Given the description of an element on the screen output the (x, y) to click on. 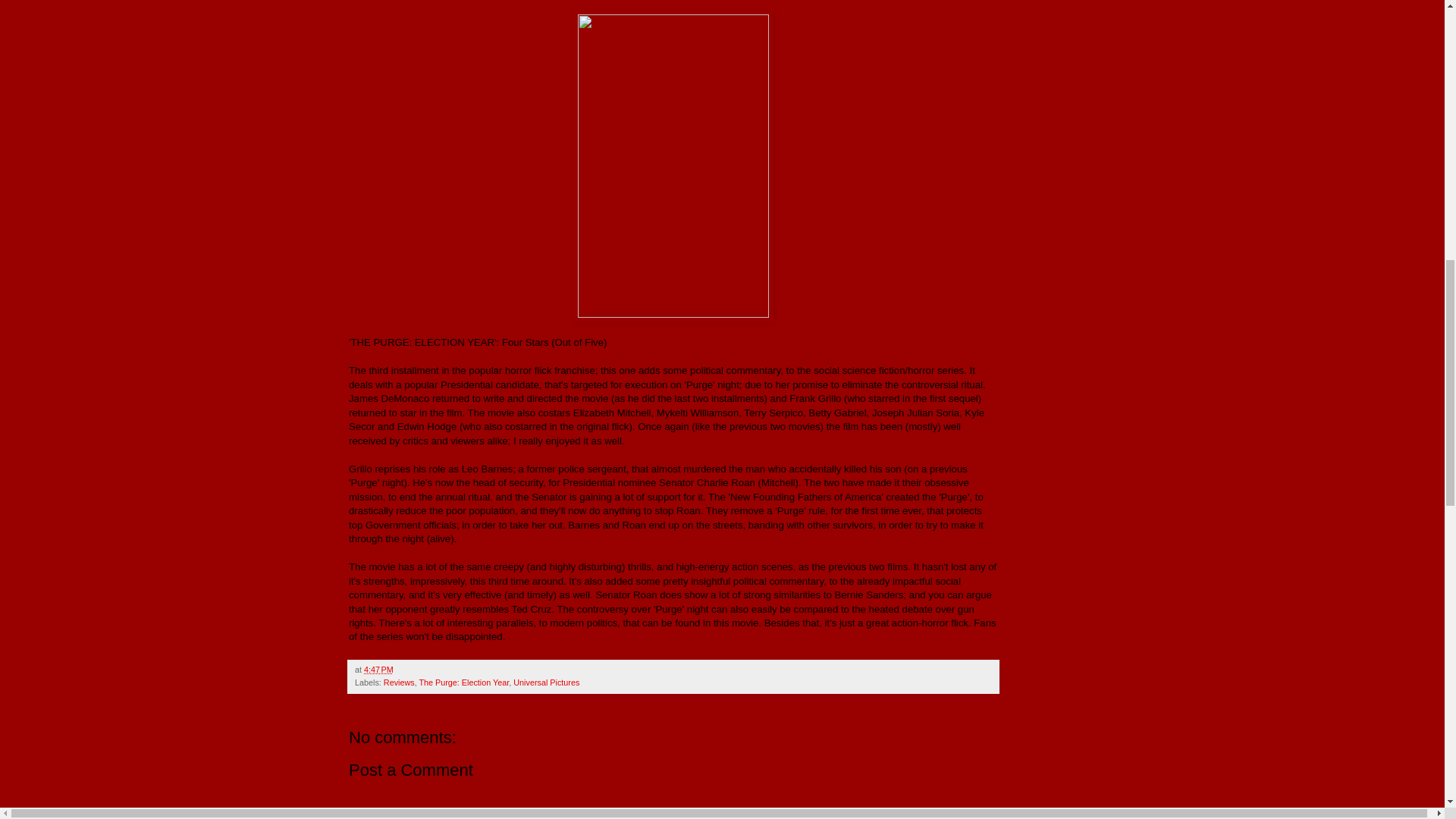
Reviews (399, 682)
Universal Pictures (546, 682)
The Purge: Election Year (463, 682)
permanent link (378, 669)
